Given the description of an element on the screen output the (x, y) to click on. 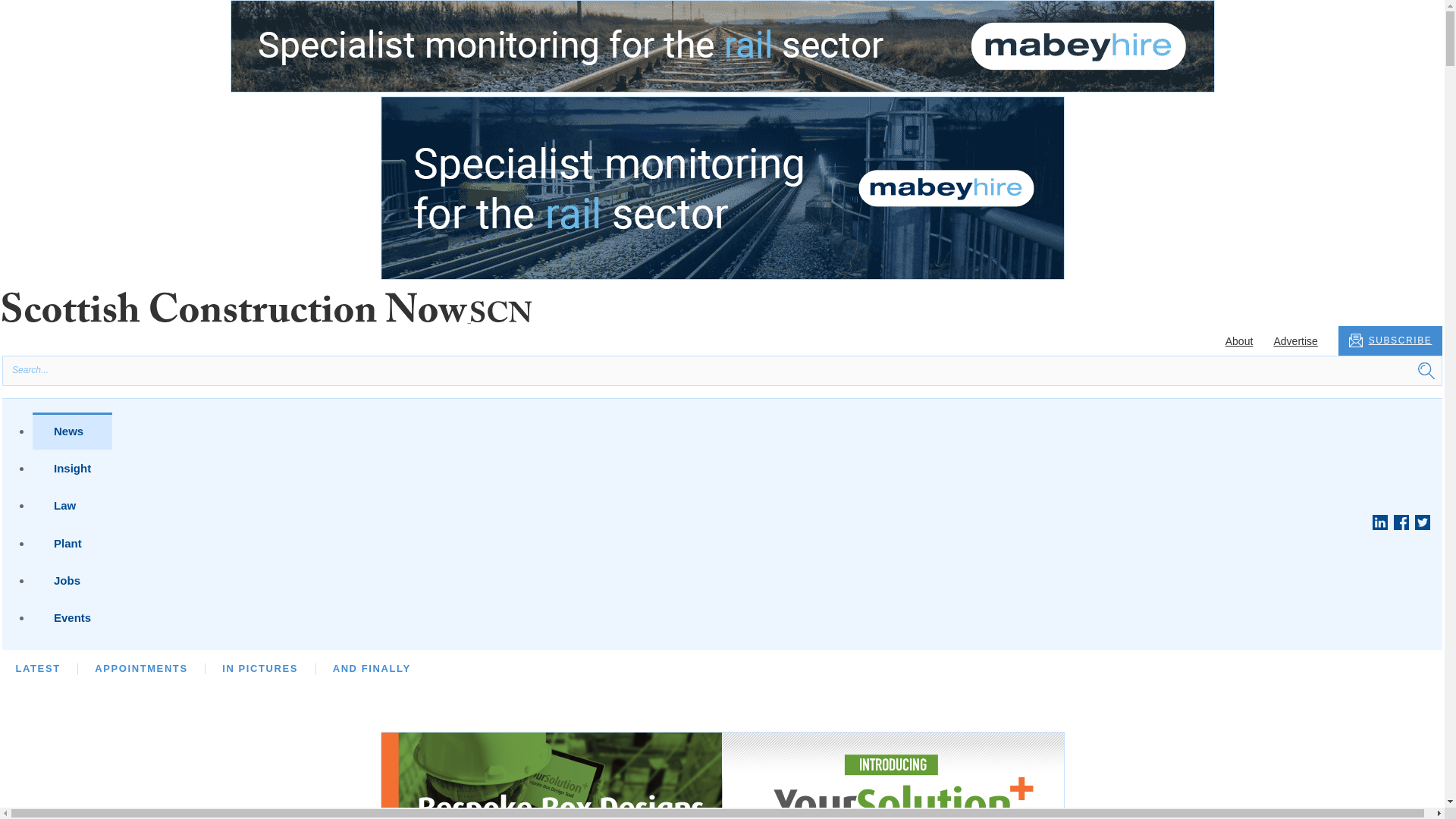
Events (72, 617)
COMPANY PROFILES (838, 668)
Law (72, 505)
News (72, 430)
APPOINTMENTS (140, 668)
APPOINTMENTS (299, 668)
Jobs (72, 579)
About (1239, 340)
IN PICTURES (260, 668)
Advertise (1295, 340)
AND FINALLY (371, 668)
JUST A MINUTE (980, 668)
SUBSCRIBE (1390, 340)
APPOINTMENTS (225, 668)
OPINION (307, 668)
